Given the description of an element on the screen output the (x, y) to click on. 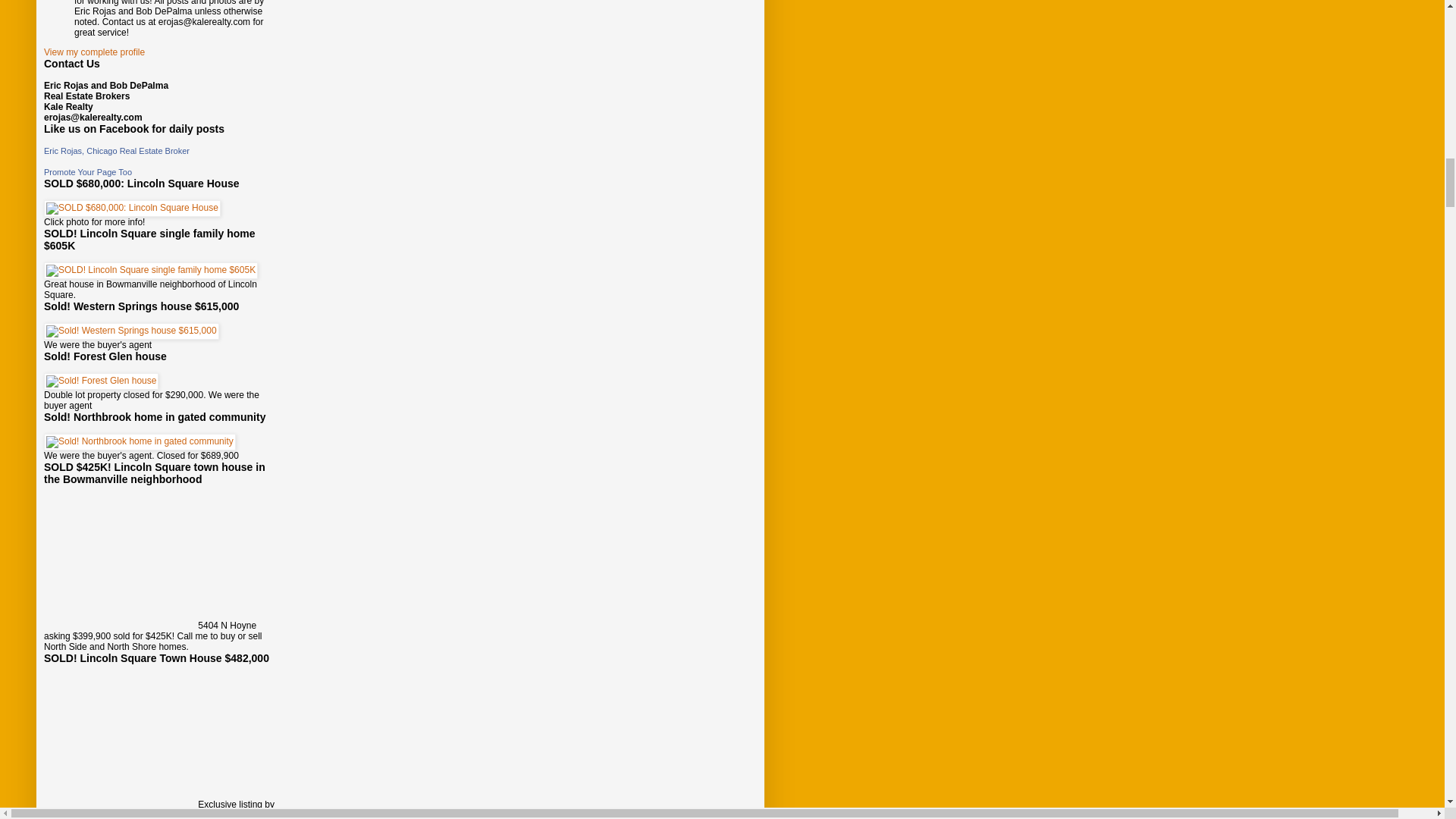
Eric Rojas, Chicago Real Estate Broker (116, 150)
Eric Rojas, Chicago Real Estate Broker (116, 150)
Make your own badge! (87, 171)
View my complete profile (93, 51)
